Given the description of an element on the screen output the (x, y) to click on. 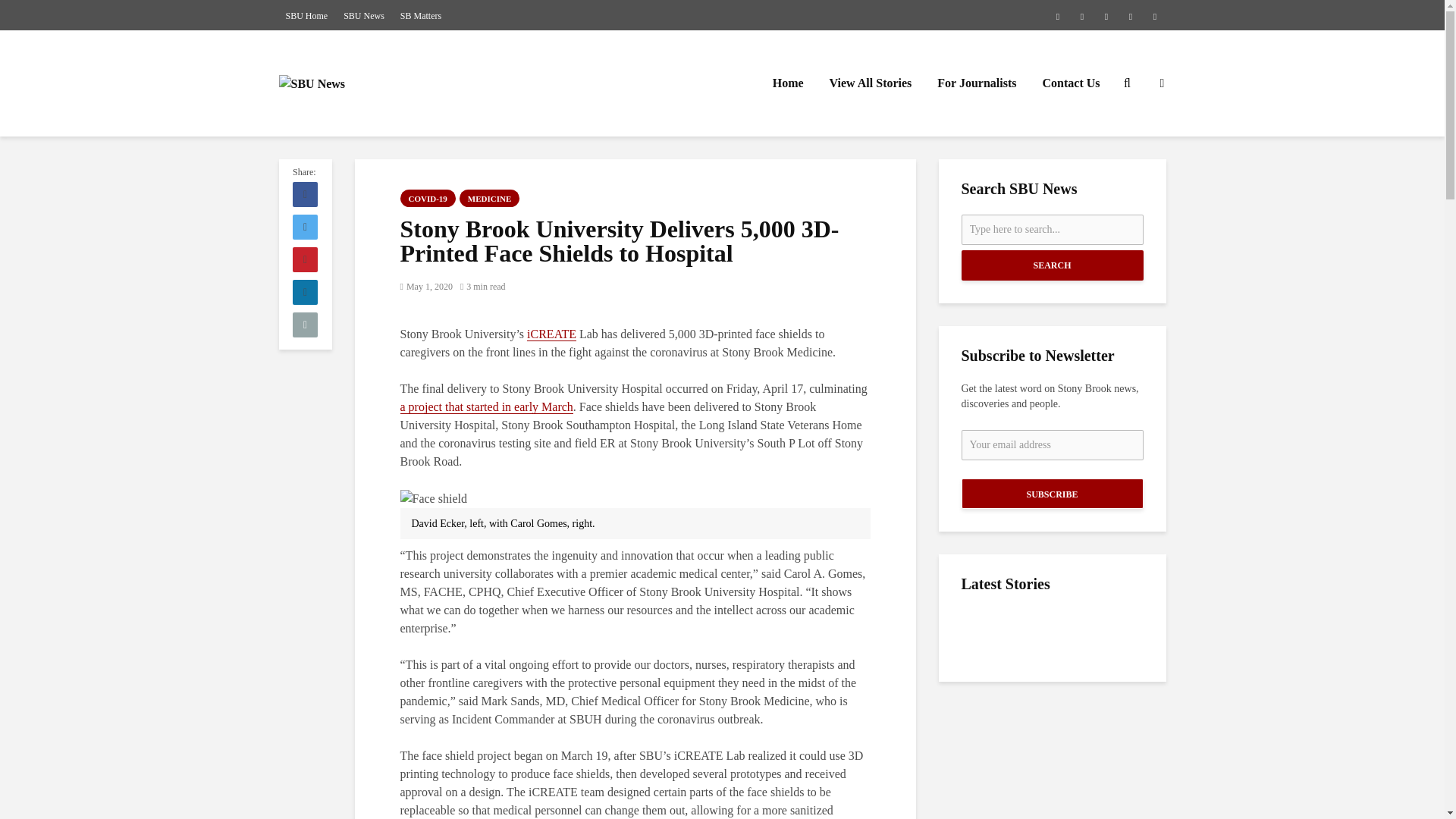
Subscribe (1051, 493)
For Journalists (976, 82)
Home (788, 82)
SBU Home (306, 15)
Webfaceshield (433, 498)
SBU News (363, 15)
Contact Us (1071, 82)
View All Stories (870, 82)
SB Matters (420, 15)
